Given the description of an element on the screen output the (x, y) to click on. 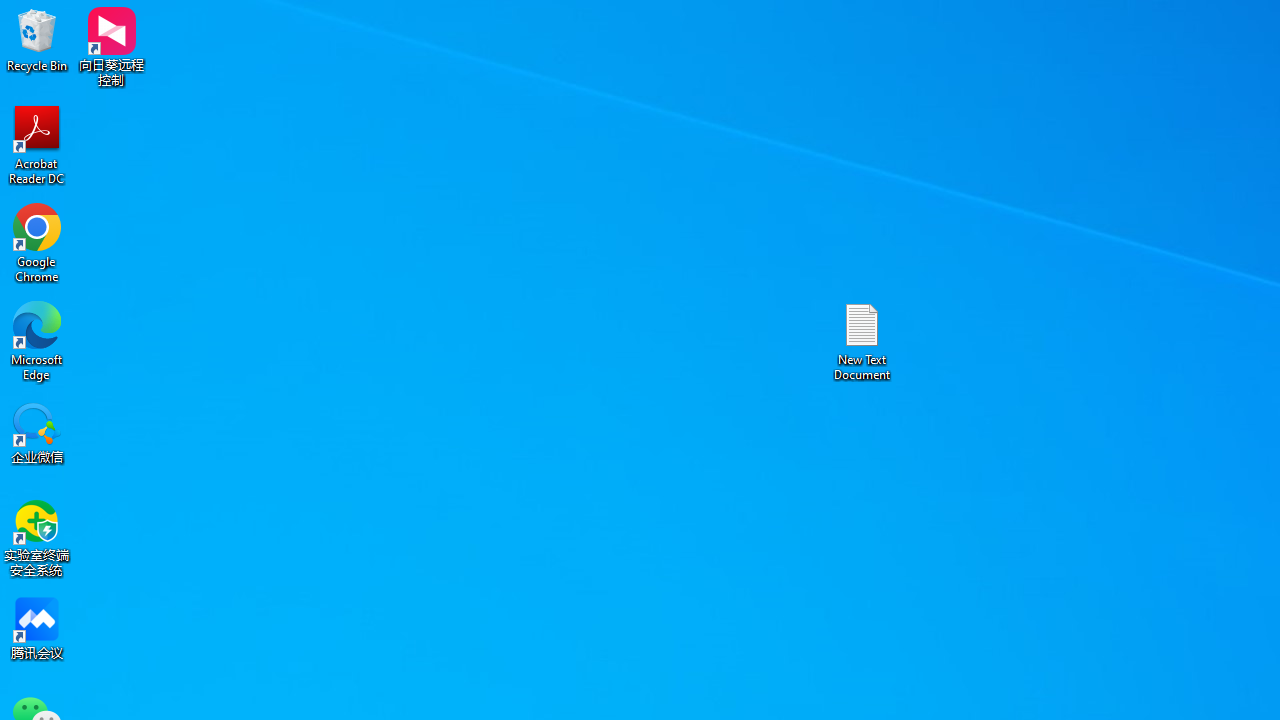
Recycle Bin (37, 39)
Google Chrome (37, 242)
New Text Document (861, 340)
Microsoft Edge (37, 340)
Acrobat Reader DC (37, 144)
